Given the description of an element on the screen output the (x, y) to click on. 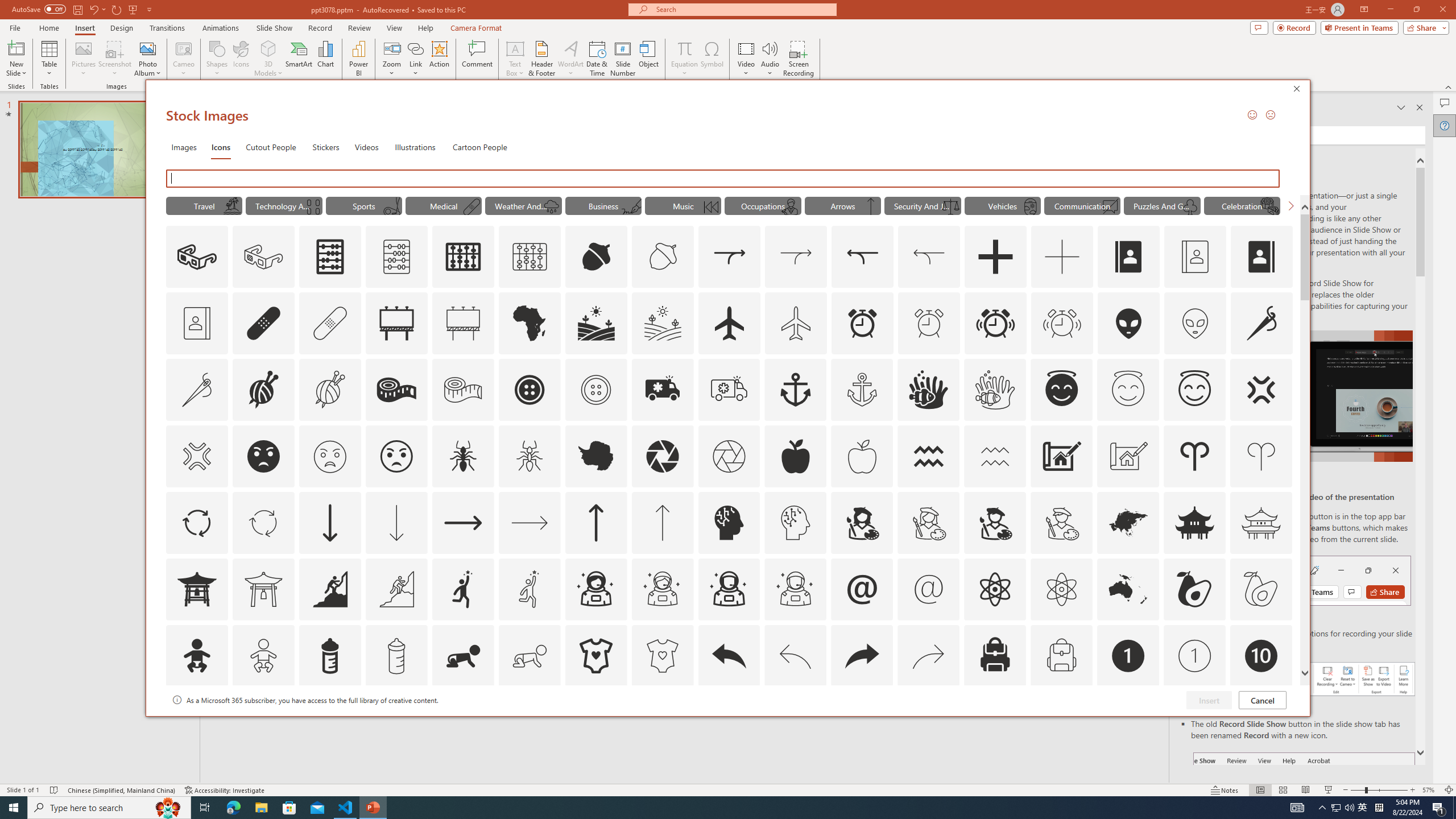
Table (49, 58)
AutomationID: Icons_Rain_M (551, 206)
AutomationID: Icons_AlterationsTailoring1 (263, 389)
AutomationID: Icons_ArtificialIntelligence (729, 522)
AutomationID: Icons_Backpack (995, 655)
AutomationID: Icons_Badge5 (662, 721)
Comment (476, 58)
AutomationID: Icons_Baby (196, 655)
AutomationID: Icons_AlterationsTailoring2_M (462, 389)
